Given the description of an element on the screen output the (x, y) to click on. 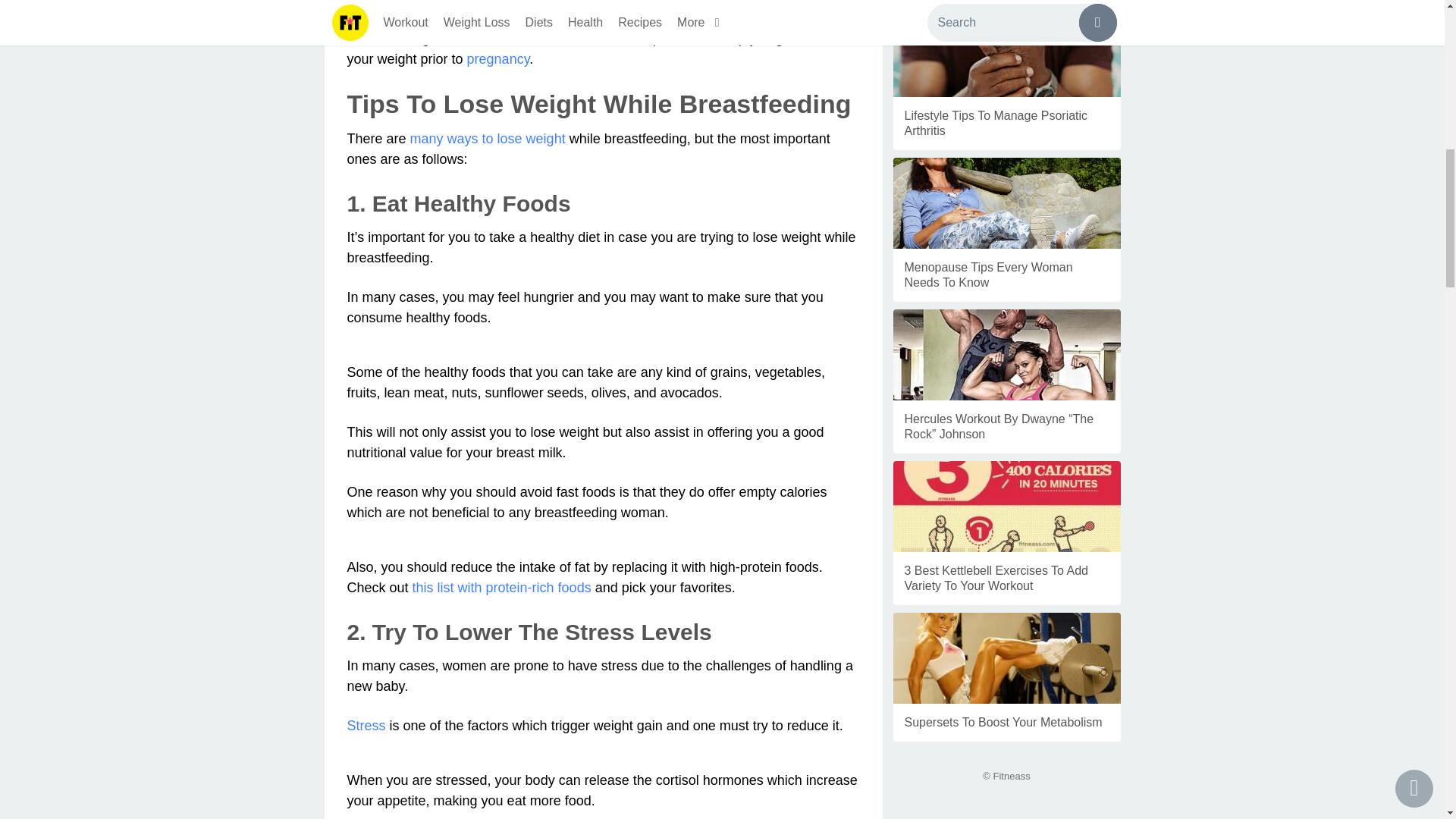
pregnancy (498, 58)
many ways to lose weight (488, 138)
Stress (366, 725)
this list with protein-rich foods (501, 587)
